Given the description of an element on the screen output the (x, y) to click on. 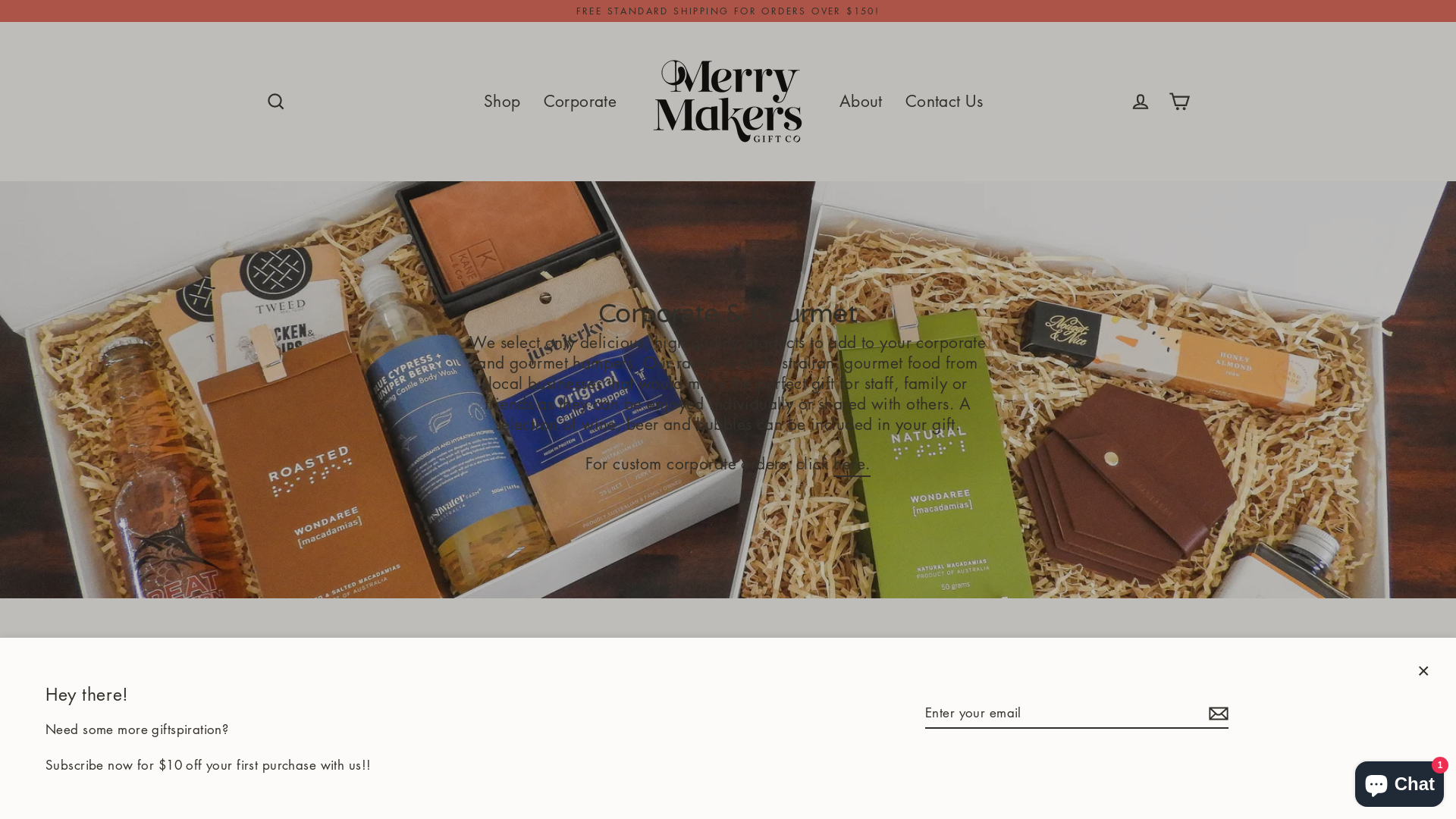
Shopify online store chat Element type: hover (1399, 780)
About Element type: text (861, 101)
here. Element type: text (852, 464)
Contact Us Element type: text (944, 101)
Close (esc) Element type: text (1422, 670)
Corporate Element type: text (580, 101)
Skip to content Element type: text (0, 0)
Search Element type: text (275, 100)
Shop Element type: text (502, 101)
Cart Element type: text (1179, 100)
Subscribe Element type: hover (1216, 713)
Log in Element type: text (1140, 100)
